Given the description of an element on the screen output the (x, y) to click on. 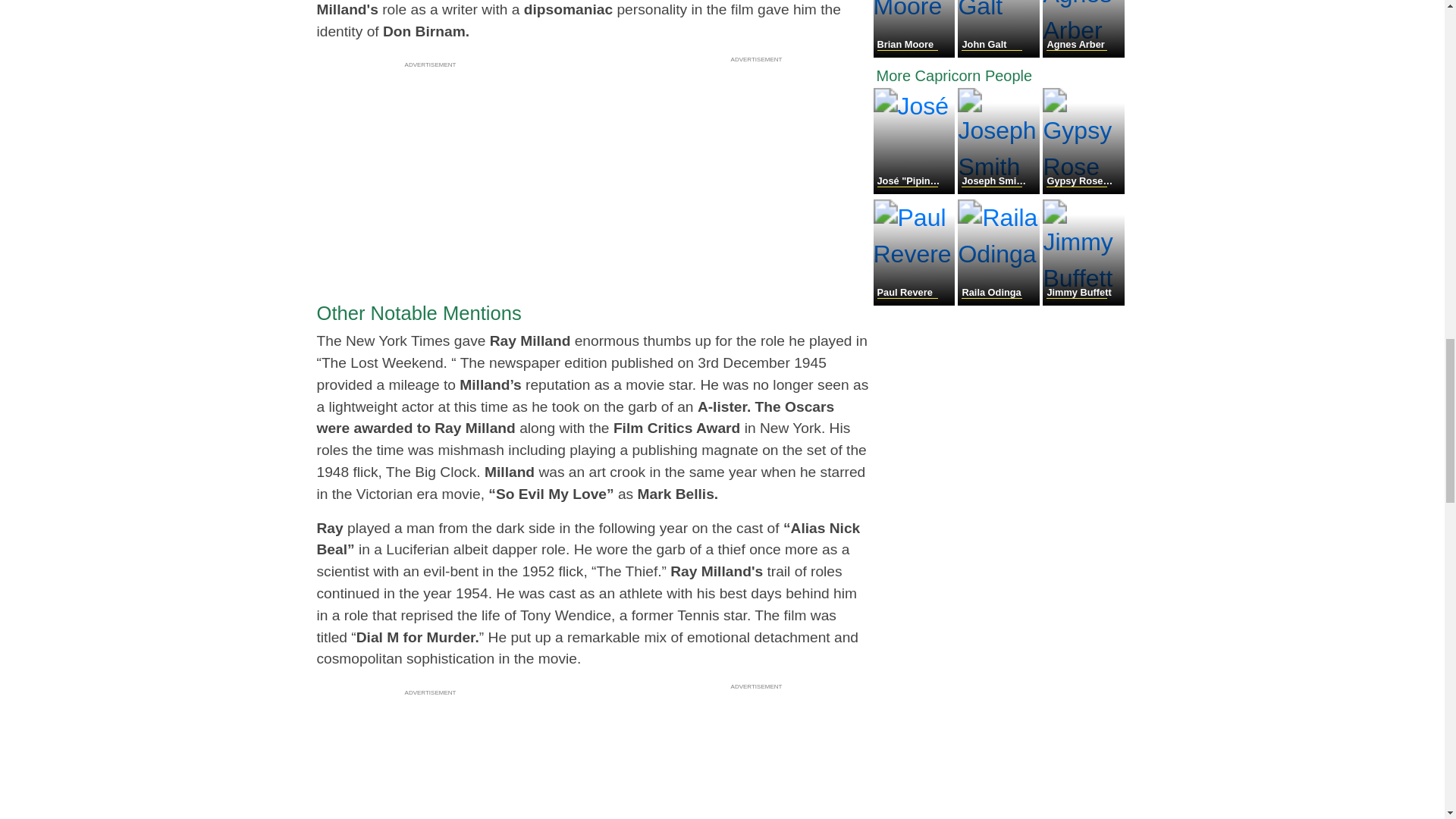
Agnes Arber (1083, 52)
Brian Moore (915, 52)
Joseph Smith Jr. (1000, 189)
John Galt (1000, 52)
Gypsy Rose Lee (1083, 189)
